Given the description of an element on the screen output the (x, y) to click on. 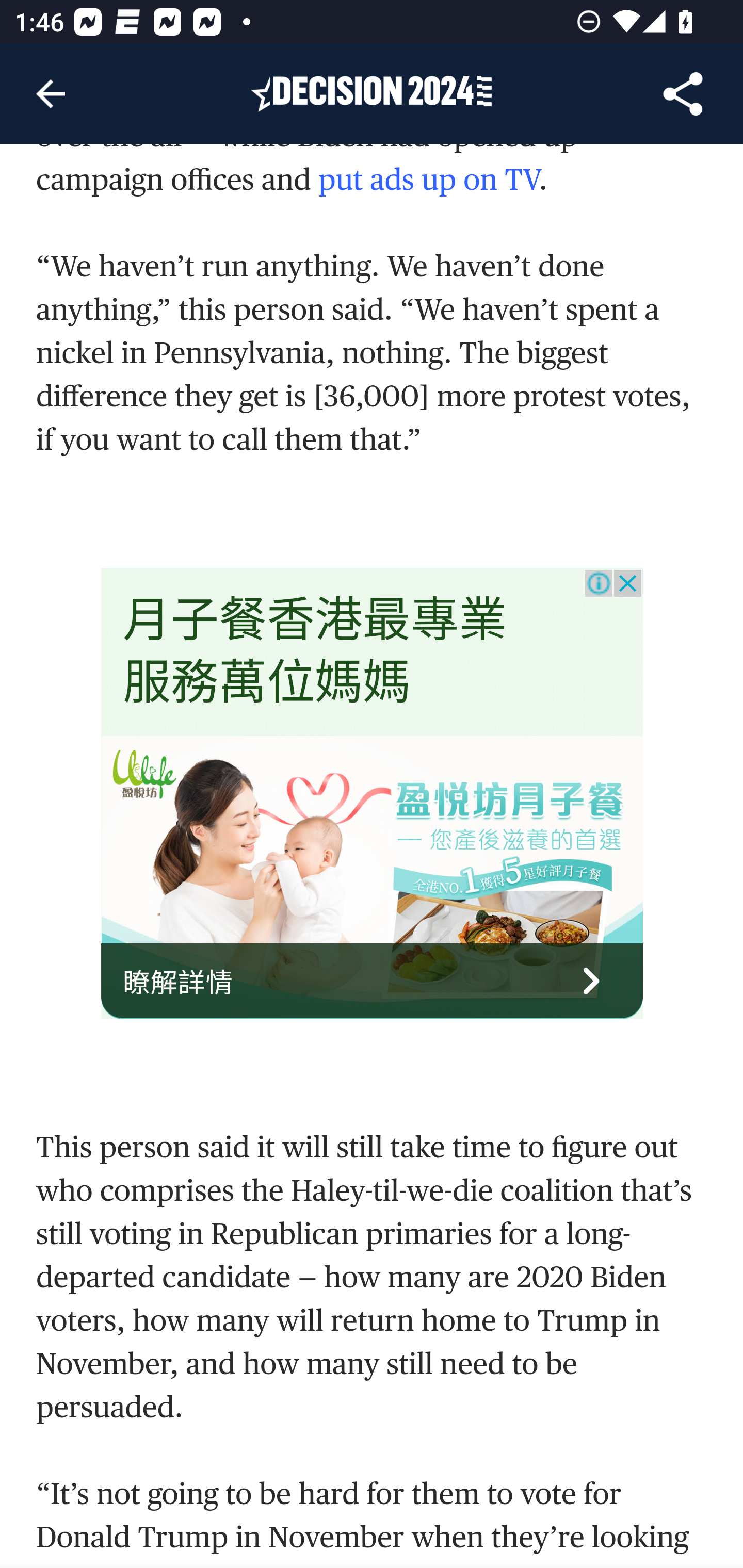
Navigate up (50, 93)
Share Article, button (683, 94)
Header, Decision 2024 (371, 93)
put ads up on TV (428, 181)
月子餐香港最專業 服務萬位媽媽 月子餐香港最專業 服務萬位媽媽 (314, 652)
瞭解詳情 (372, 981)
